Given the description of an element on the screen output the (x, y) to click on. 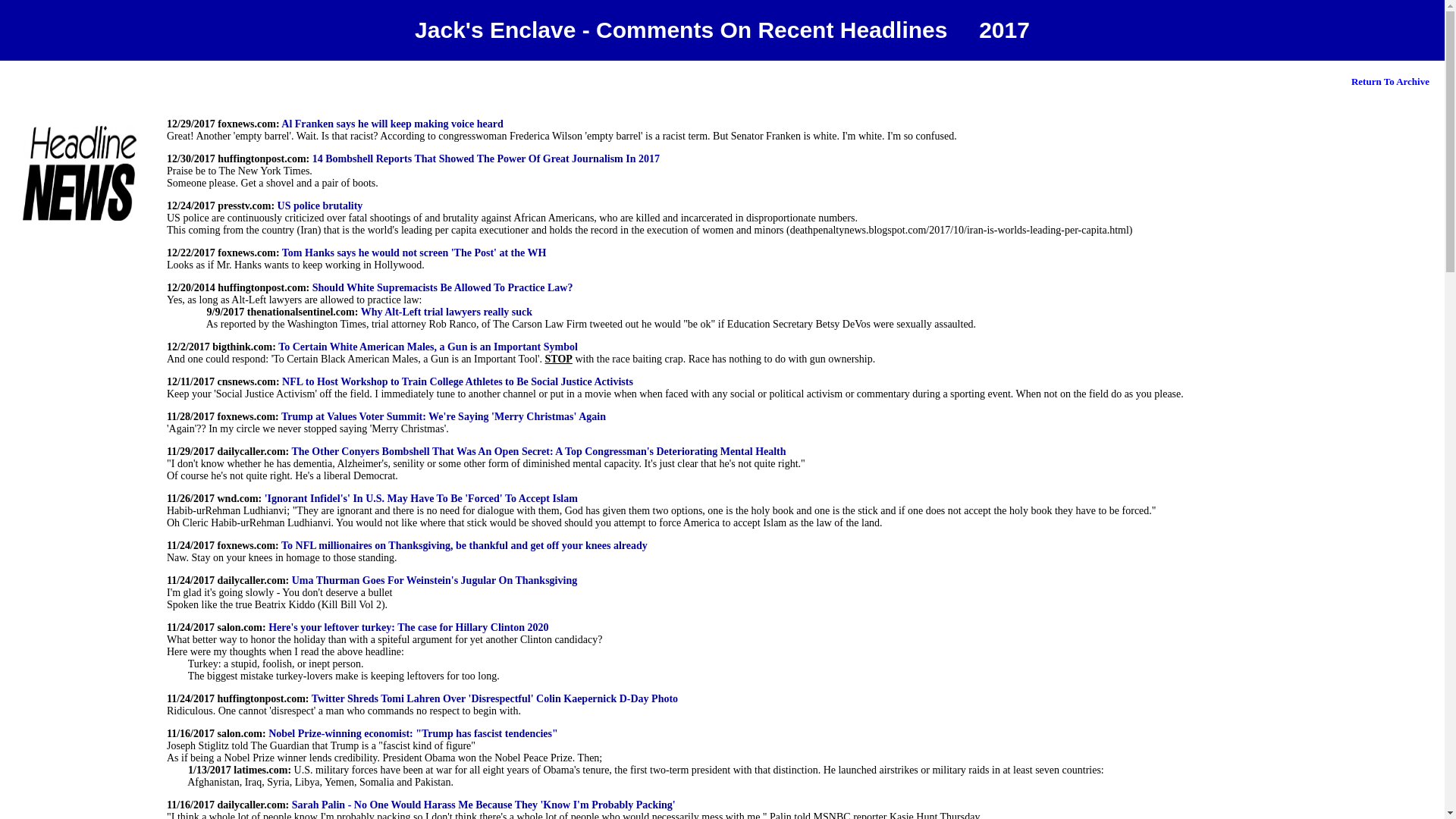
Return To Archive (1390, 80)
